Given the description of an element on the screen output the (x, y) to click on. 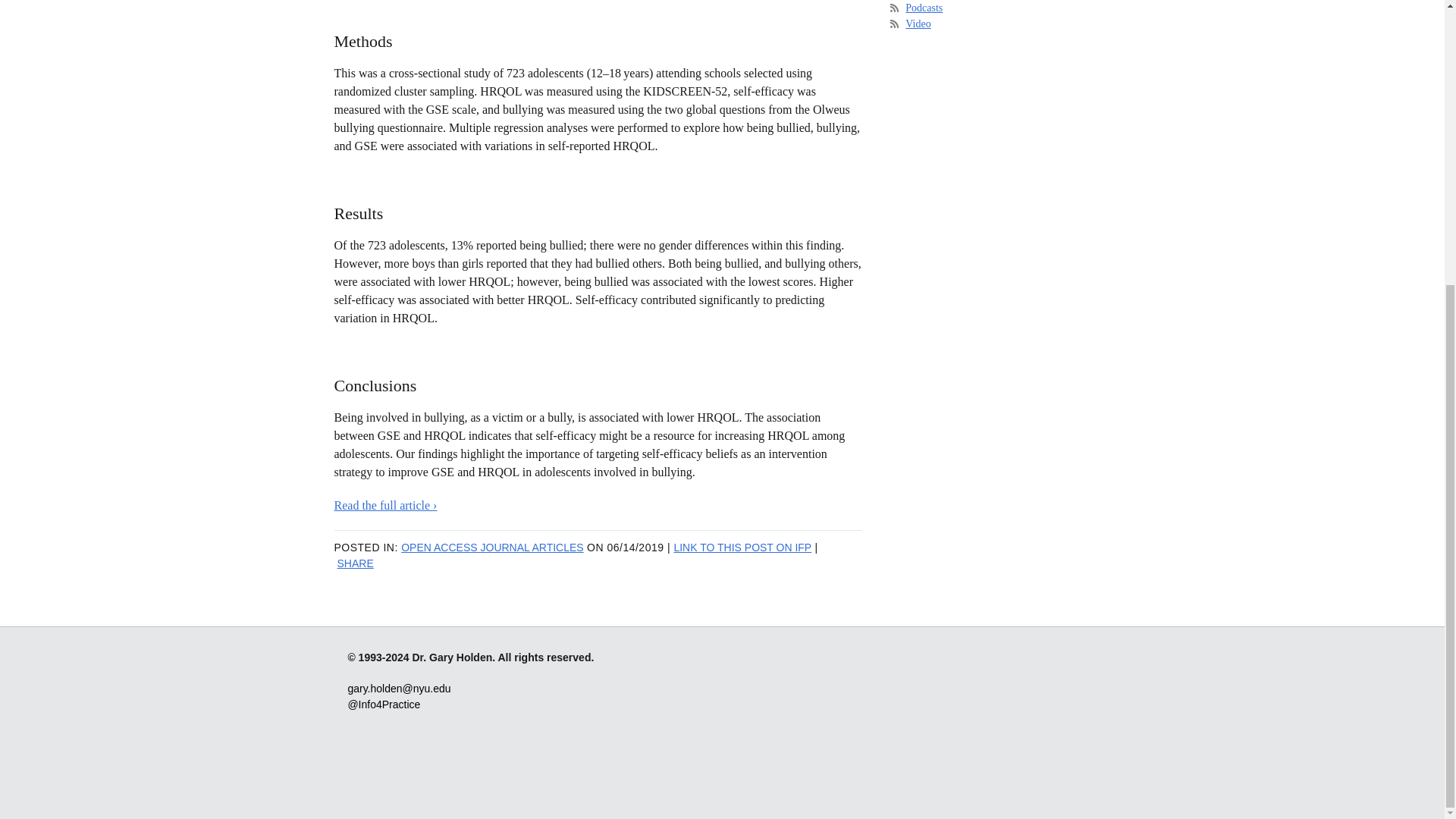
OPEN ACCESS JOURNAL ARTICLES (492, 547)
SHARE (354, 563)
Video (917, 23)
LINK TO THIS POST ON IFP (741, 547)
Podcasts (923, 7)
